Given the description of an element on the screen output the (x, y) to click on. 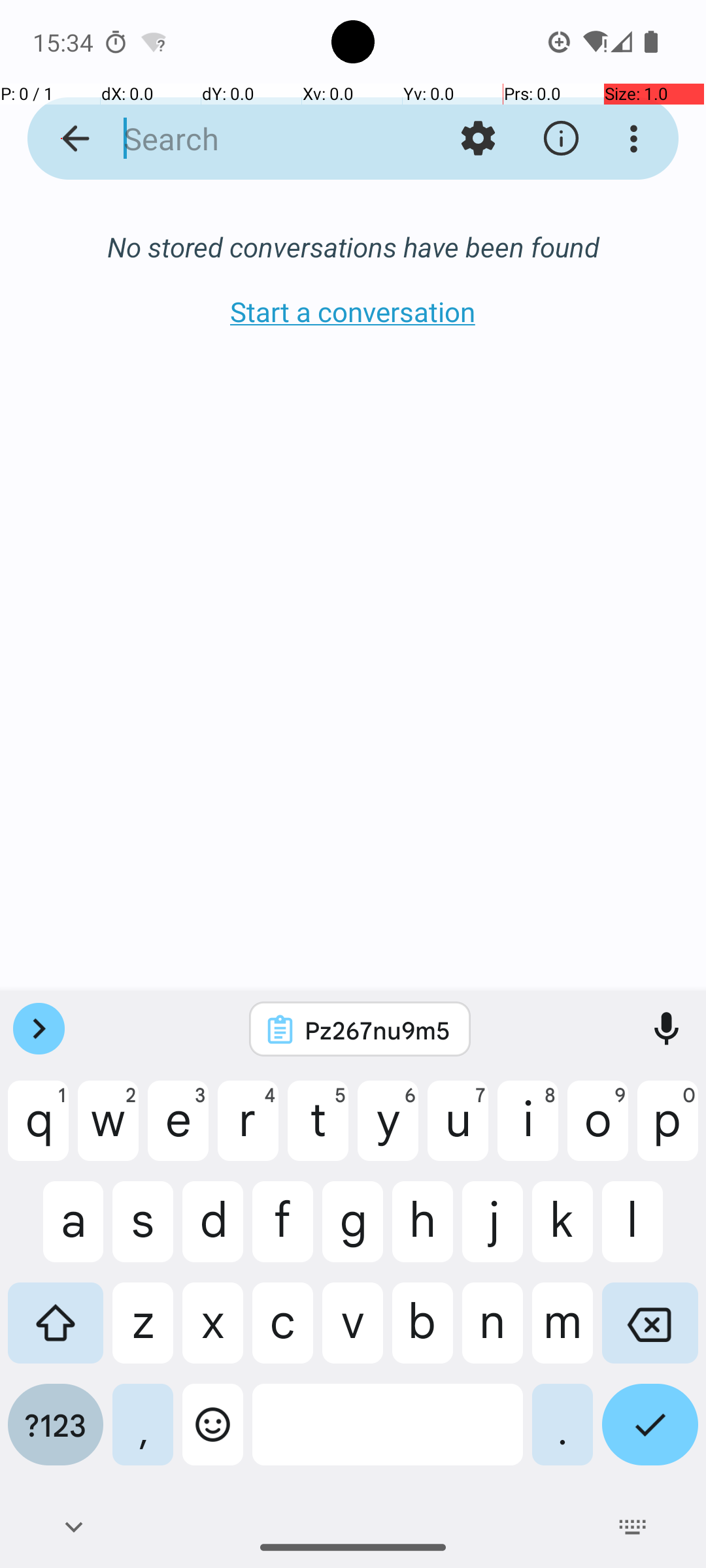
Pz267nu9m5 Element type: android.widget.TextView (376, 1029)
